Given the description of an element on the screen output the (x, y) to click on. 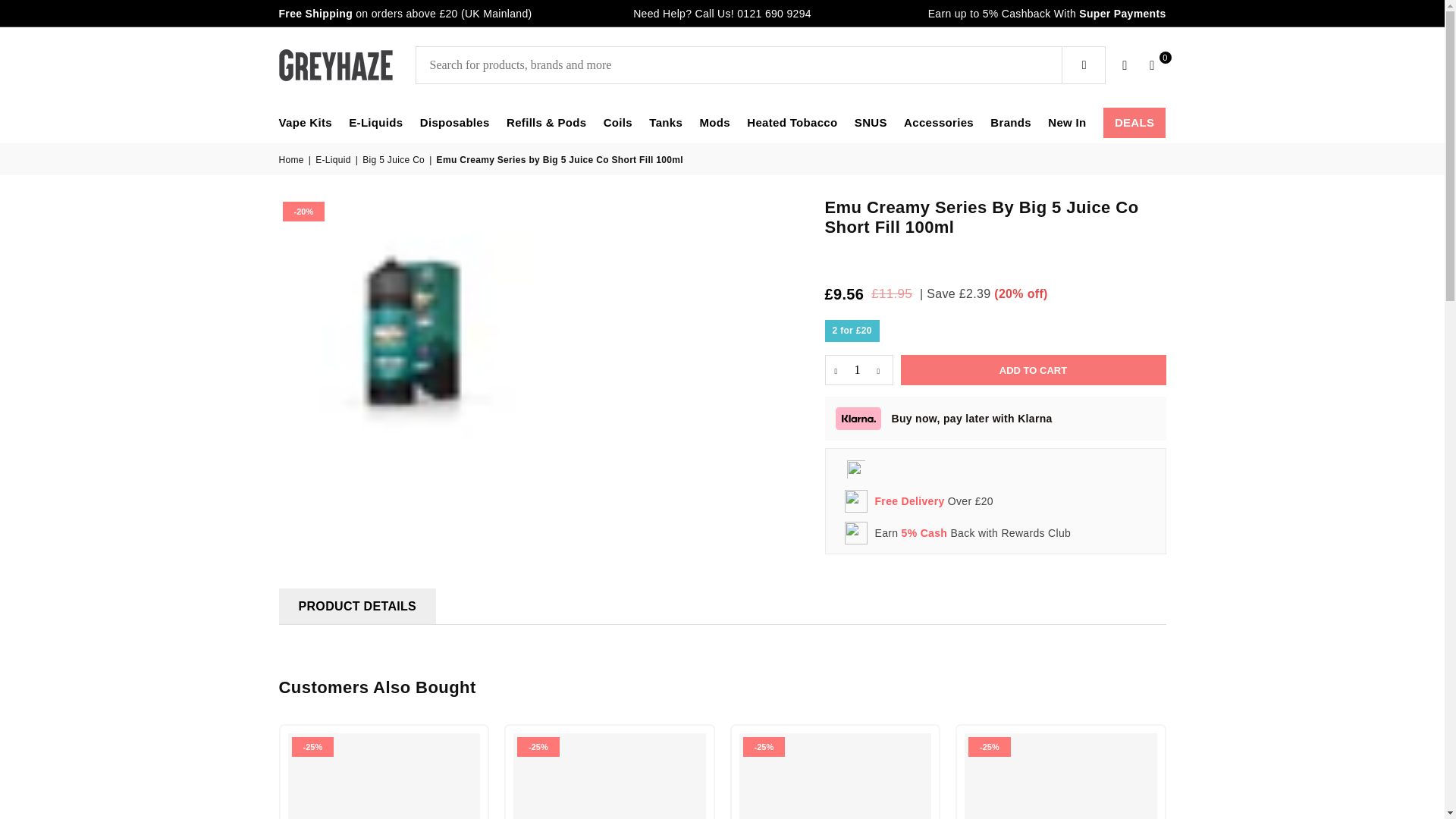
Free Delivery (909, 500)
Back to the home page (292, 159)
E-Liquid (334, 159)
Cart (1152, 65)
Quantity (859, 369)
0 (1152, 65)
Vape Kits (305, 122)
Settings (1125, 65)
SUBMIT (1083, 64)
GREY HAZE (346, 65)
